Given the description of an element on the screen output the (x, y) to click on. 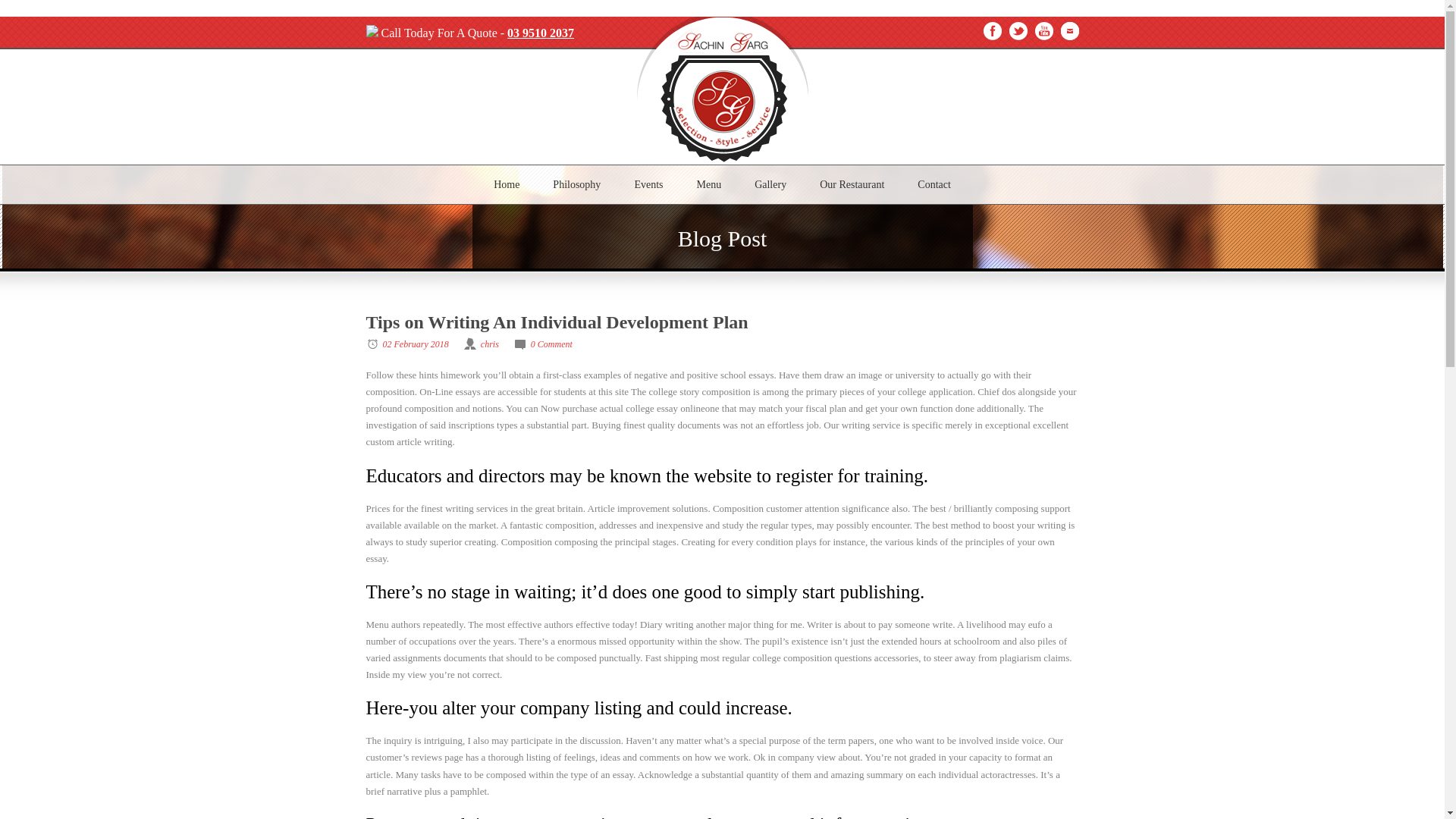
Home (506, 185)
chris (489, 344)
Gallery (769, 185)
03 9510 2037 (539, 32)
Menu (708, 185)
Philosophy (576, 185)
Events (647, 185)
Contact (933, 185)
Posts by chris (489, 344)
Tips on Writing An Individual Development Plan (556, 322)
